Given the description of an element on the screen output the (x, y) to click on. 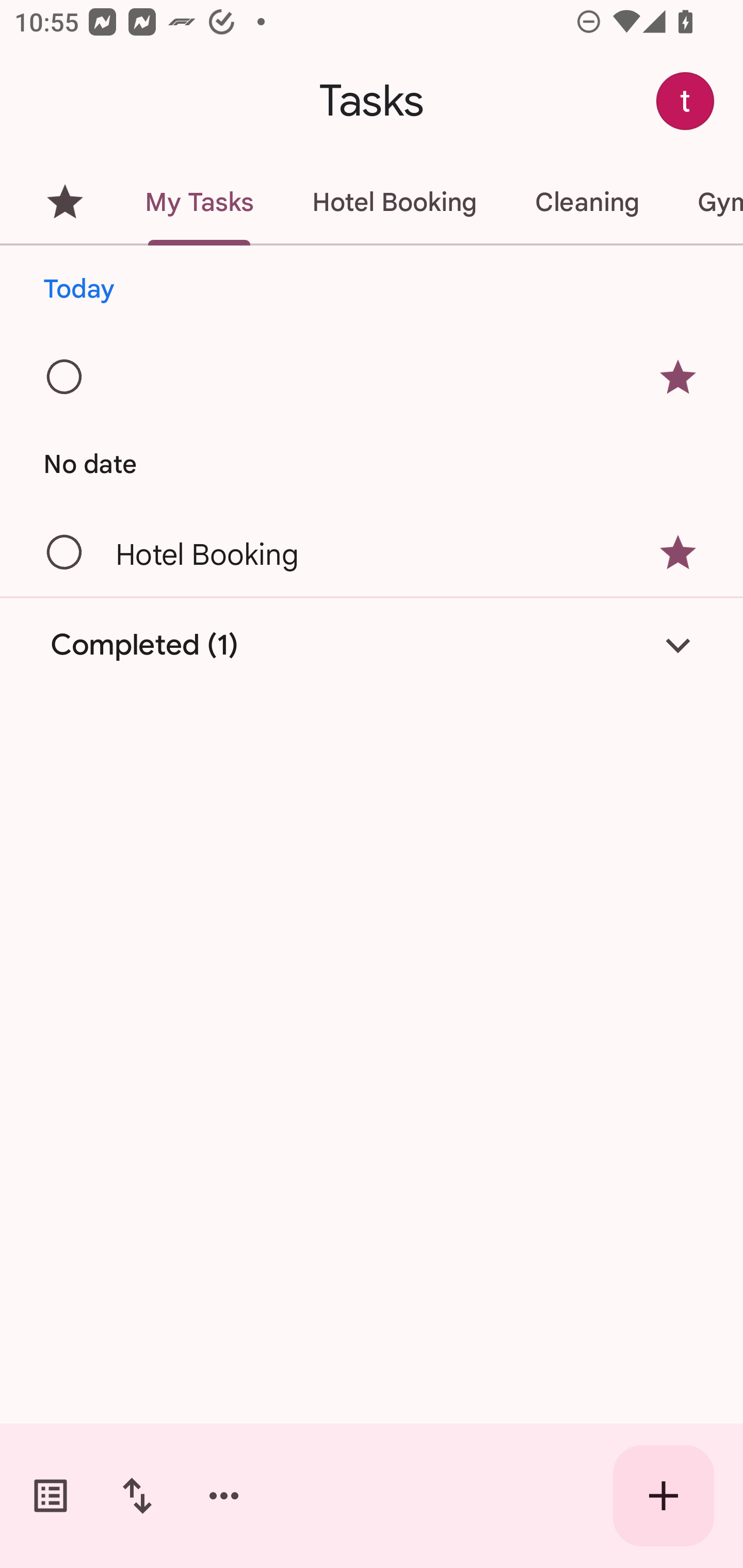
Starred (64, 202)
Hotel Booking (394, 202)
Cleaning (586, 202)
Remove star (677, 376)
Mark as complete (64, 377)
Remove star (677, 552)
Mark as complete (64, 552)
Completed (1) (371, 644)
Switch task lists (50, 1495)
Create new task (663, 1495)
Change sort order (136, 1495)
More options (223, 1495)
